Given the description of an element on the screen output the (x, y) to click on. 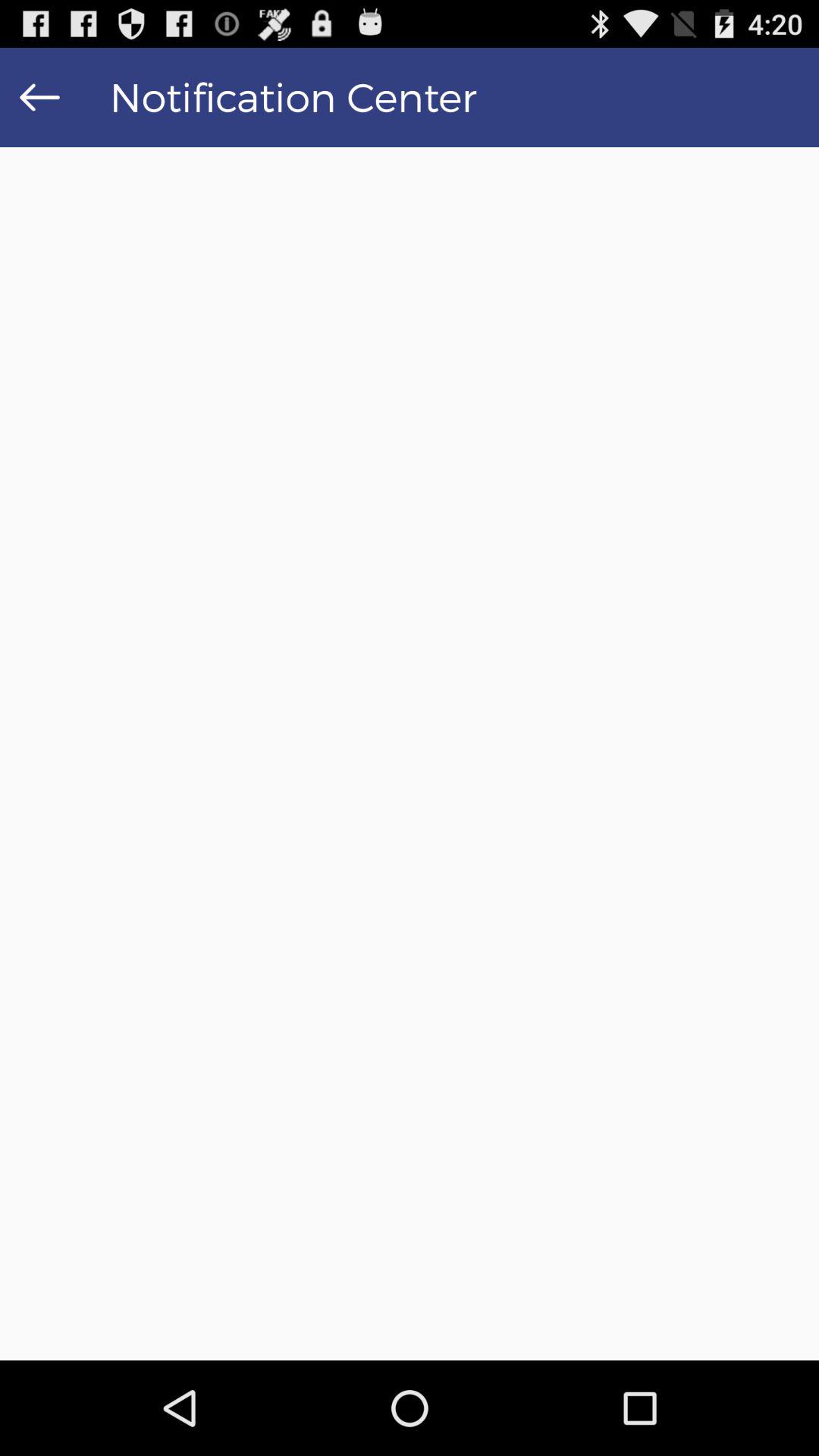
go do back (39, 97)
